Given the description of an element on the screen output the (x, y) to click on. 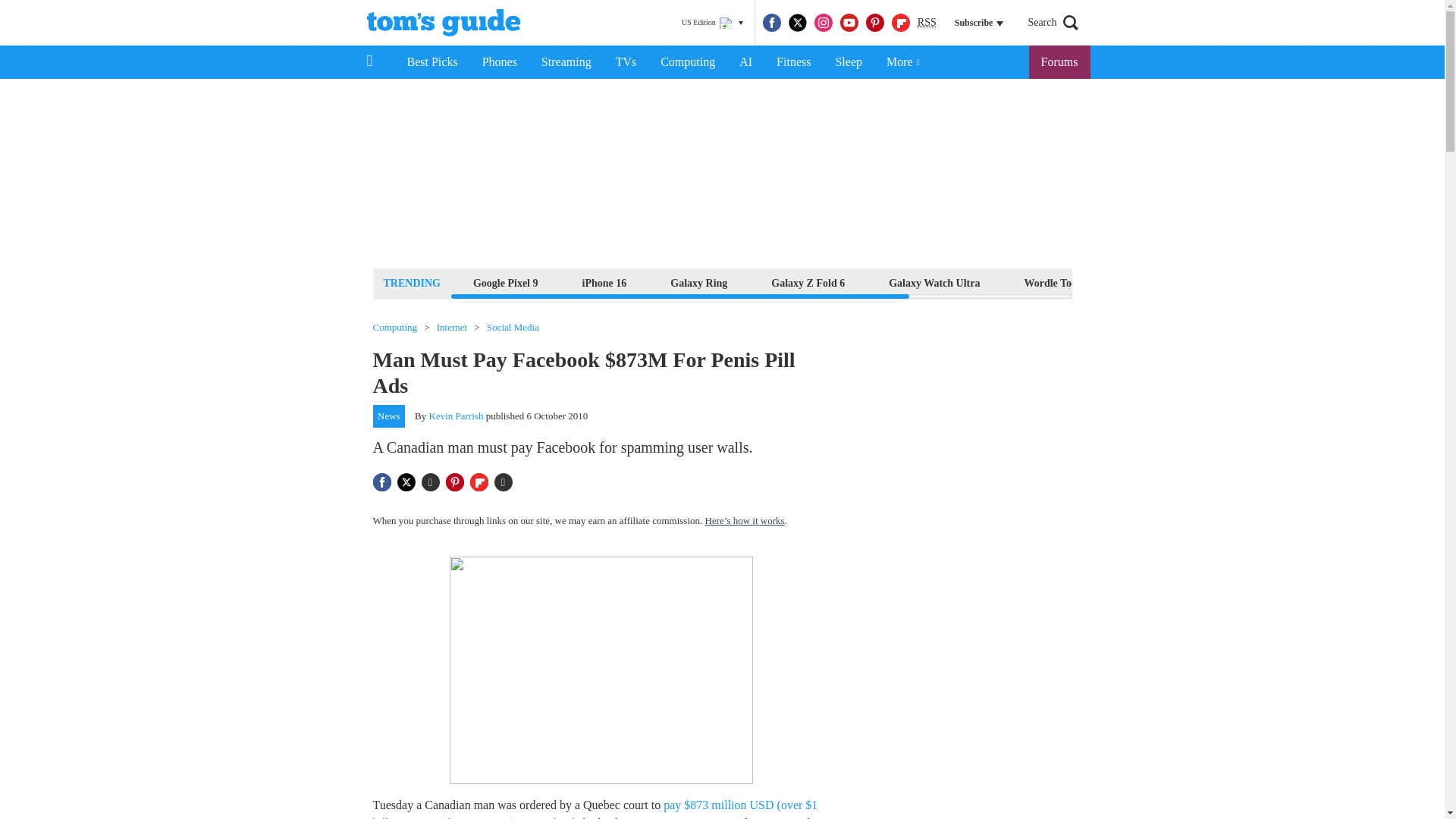
Phones (499, 61)
US Edition (712, 22)
TVs (626, 61)
Best Picks (431, 61)
AI (745, 61)
Fitness (793, 61)
Streaming (566, 61)
Really Simple Syndication (926, 21)
RSS (926, 22)
Sleep (848, 61)
Computing (686, 61)
